Given the description of an element on the screen output the (x, y) to click on. 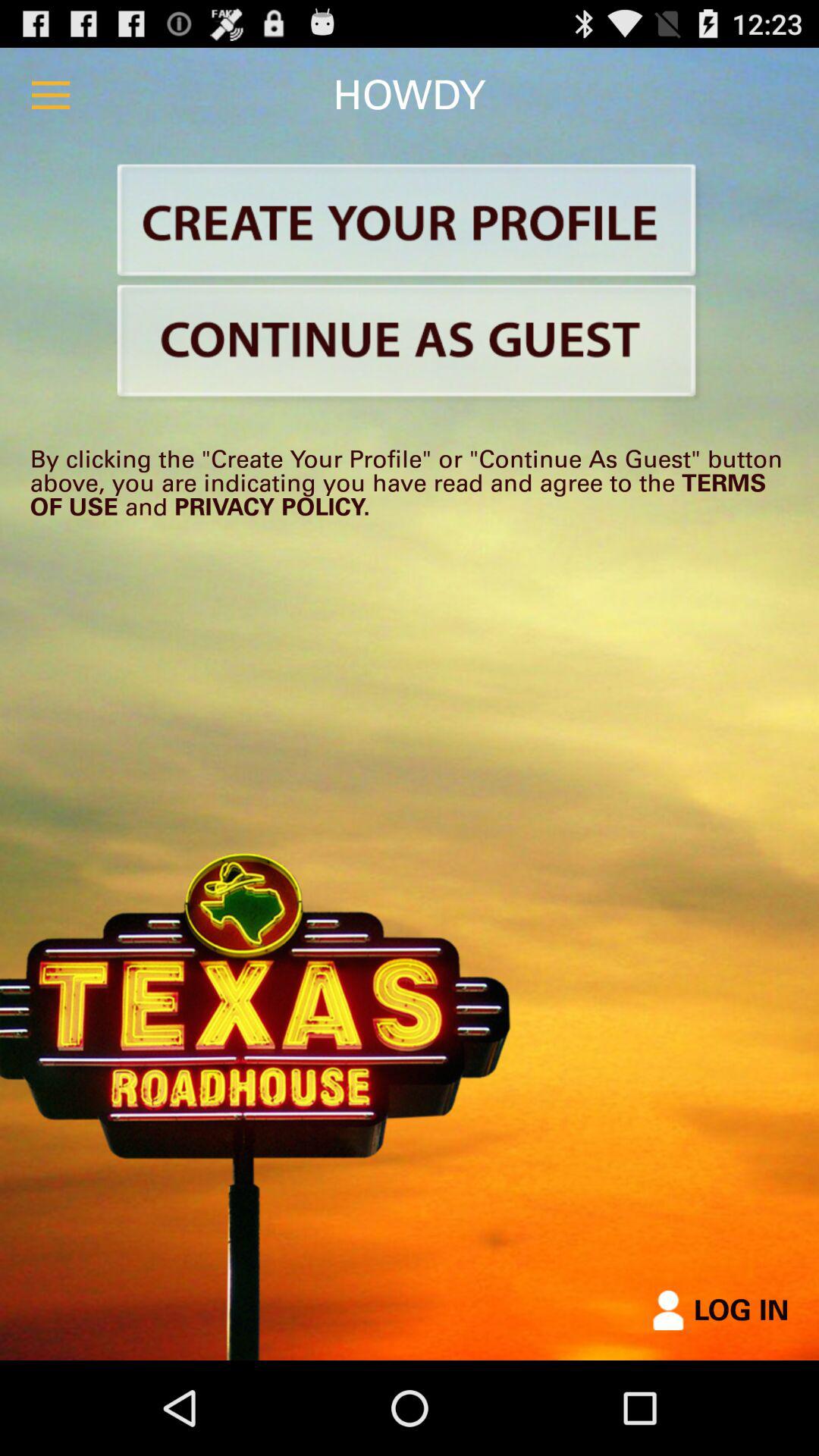
go to create your profile (409, 223)
